Given the description of an element on the screen output the (x, y) to click on. 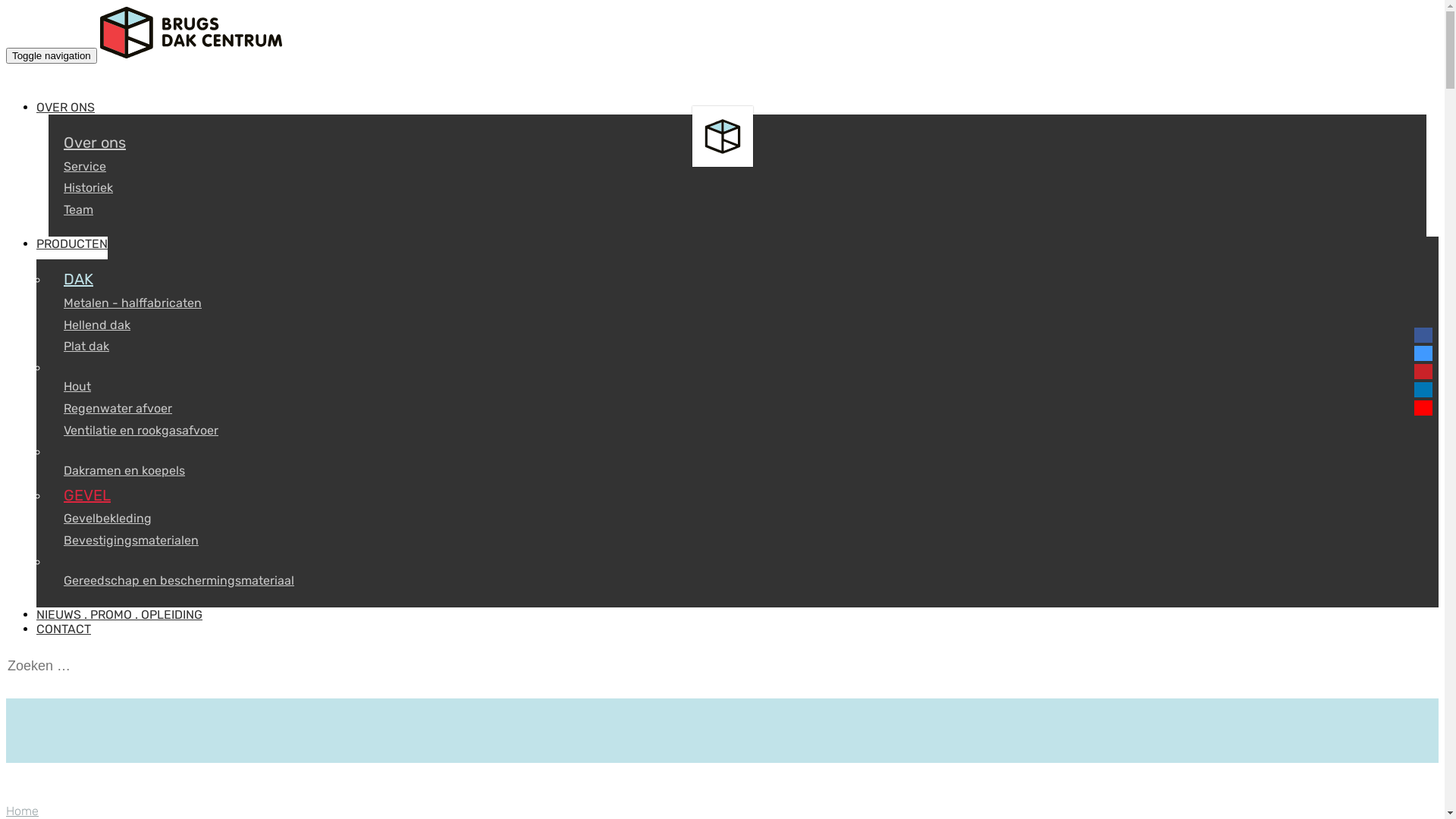
NIEUWS . PROMO . OPLEIDING Element type: text (119, 620)
Over ons Element type: text (737, 142)
Hout Element type: text (737, 387)
CONTACT Element type: text (63, 634)
GEVEL Element type: text (737, 495)
PRODUCTEN Element type: text (71, 249)
Service Element type: text (737, 167)
Ventilatie en rookgasafvoer Element type: text (737, 431)
Bevestigingsmaterialen Element type: text (737, 541)
Home Element type: text (22, 810)
Historiek Element type: text (737, 188)
Gereedschap en beschermingsmateriaal Element type: text (737, 581)
Toggle navigation Element type: text (51, 55)
Brugs Dak Centrum Element type: hover (191, 54)
OVER ONS Element type: text (65, 112)
Plat dak Element type: text (737, 346)
Team Element type: text (737, 210)
DAK Element type: text (737, 279)
Metalen - halffabricaten Element type: text (737, 303)
Hellend dak Element type: text (737, 324)
Regenwater afvoer Element type: text (737, 409)
Dakramen en koepels Element type: text (737, 471)
Gevelbekleding Element type: text (737, 519)
